Given the description of an element on the screen output the (x, y) to click on. 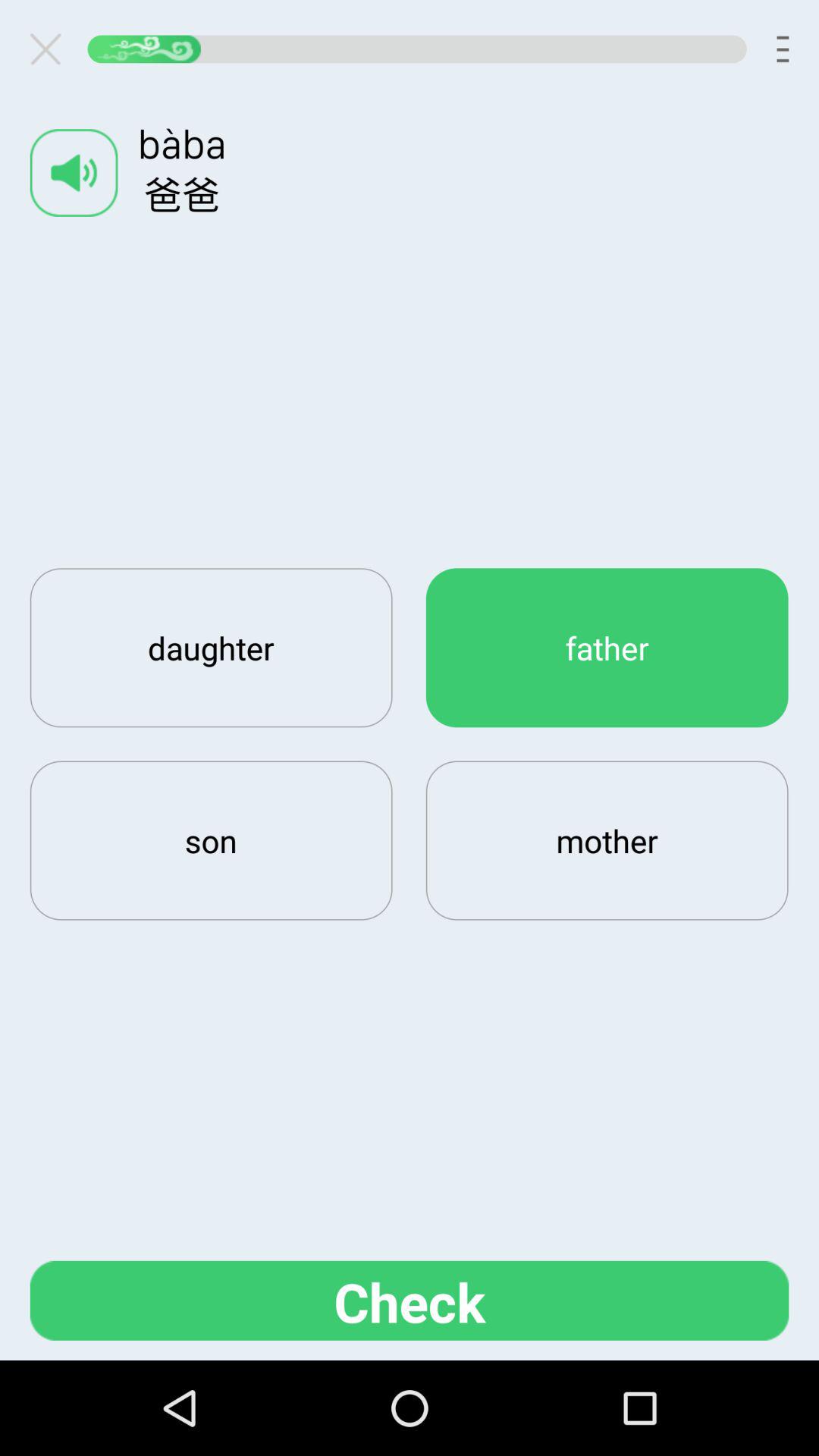
toggles sound (73, 172)
